Given the description of an element on the screen output the (x, y) to click on. 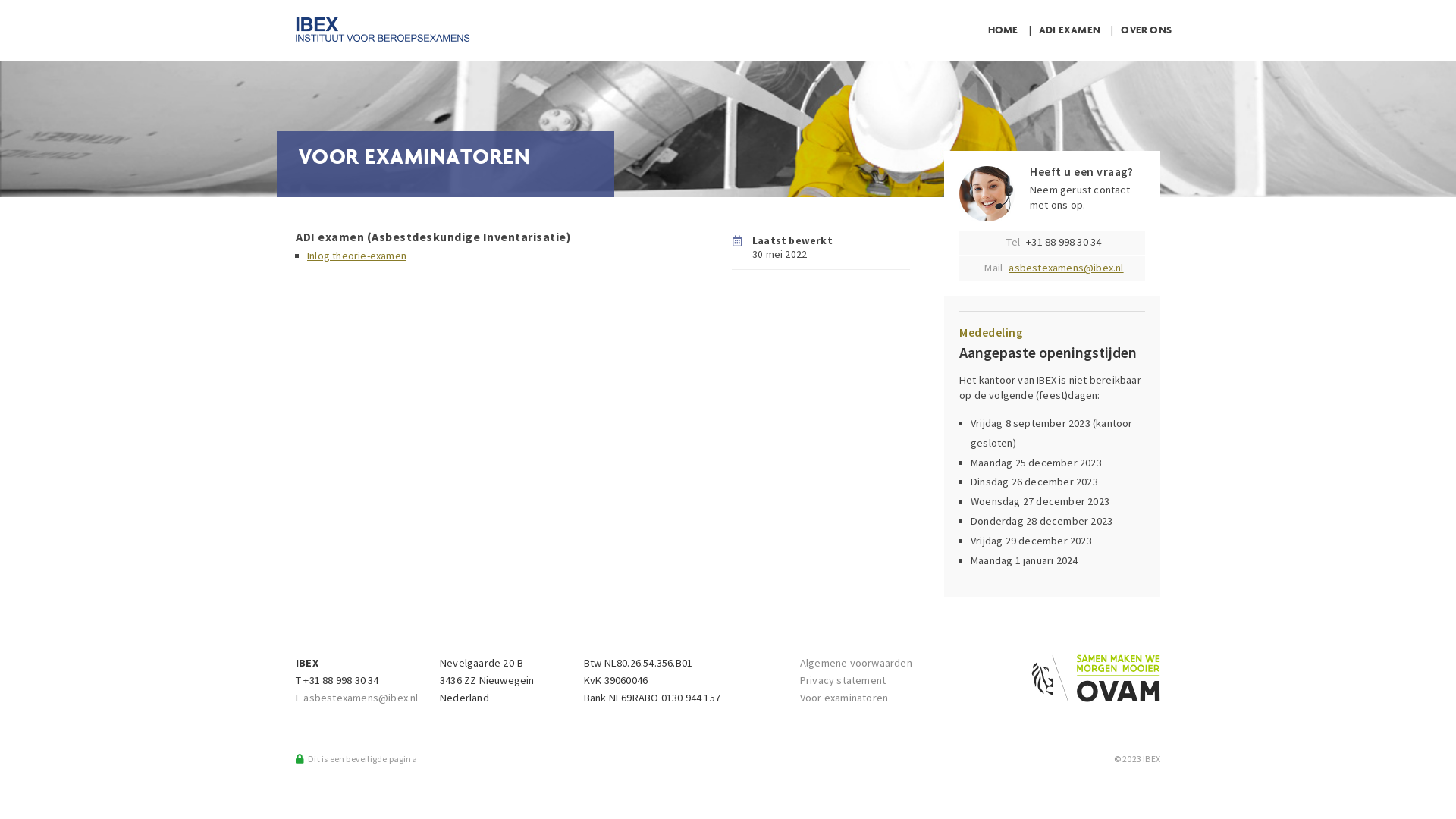
ADI EXAMEN Element type: text (1069, 29)
asbestexamens@ibex.nl Element type: text (1065, 267)
Voor examinatoren Element type: text (844, 697)
HOME Element type: text (1003, 29)
Privacy statement Element type: text (842, 680)
asbestexamens@ibex.nl Element type: text (360, 697)
Inlog theorie-examen Element type: text (356, 255)
OVER ONS Element type: text (1145, 29)
Algemene voorwaarden Element type: text (856, 662)
